Given the description of an element on the screen output the (x, y) to click on. 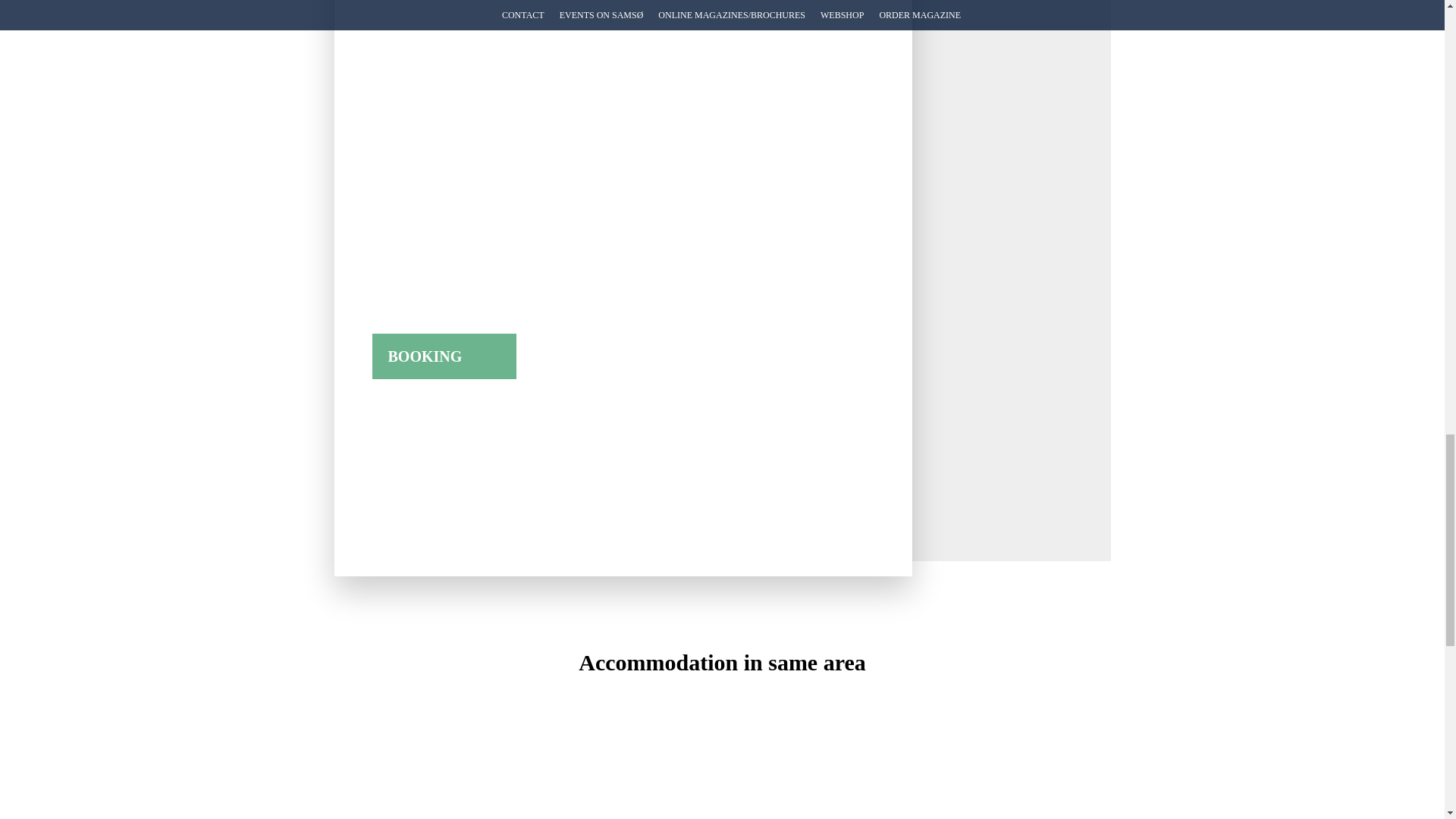
BOOKING (443, 356)
